Given the description of an element on the screen output the (x, y) to click on. 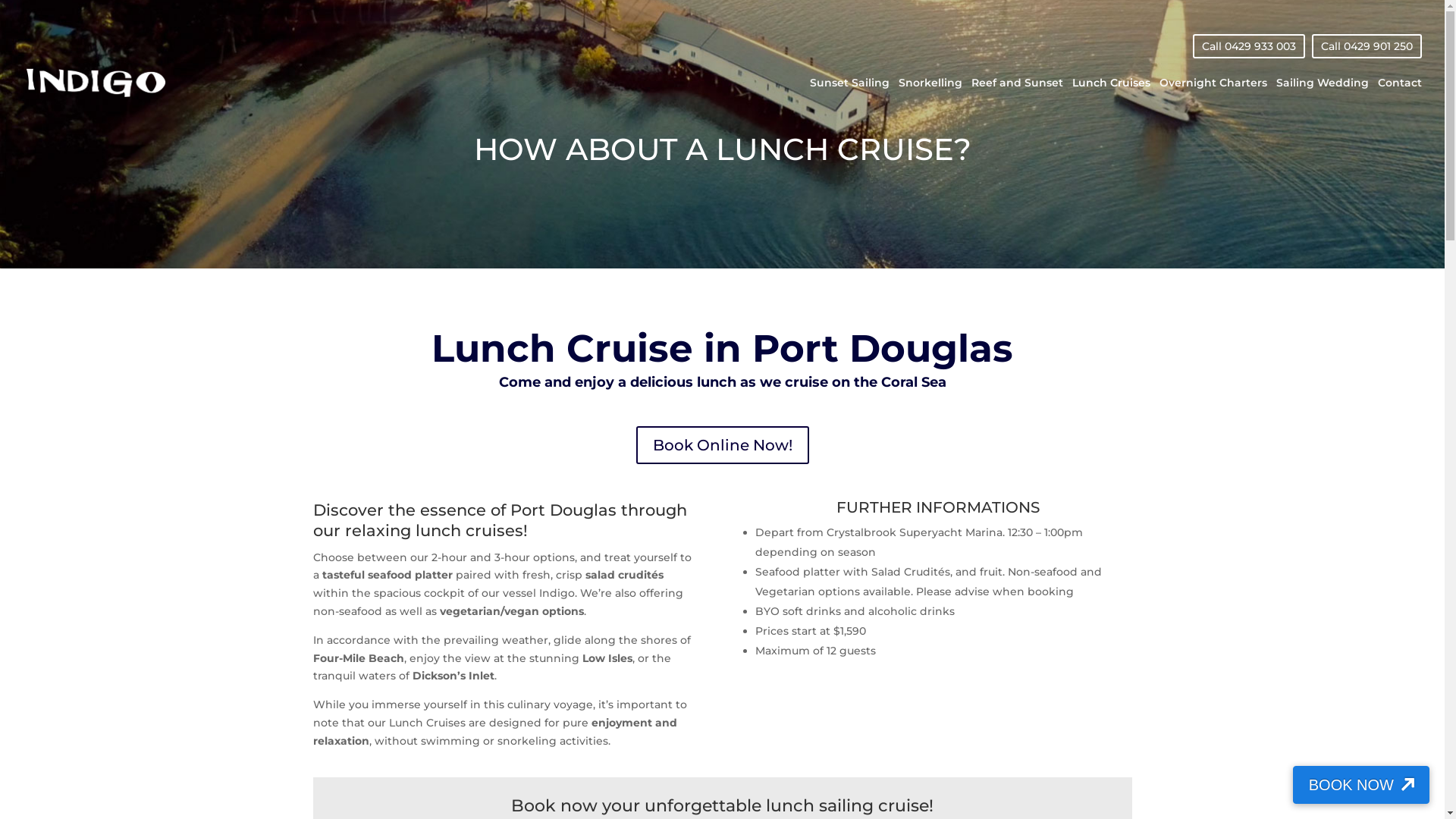
Book Online Now! Element type: text (721, 445)
Sunset Sailing Element type: text (849, 98)
Contact Element type: text (1399, 98)
Overnight Charters Element type: text (1213, 98)
Reef and Sunset Element type: text (1017, 98)
Lunch Cruises Element type: text (1111, 98)
Sailing Wedding Element type: text (1322, 98)
Snorkelling Element type: text (930, 98)
Call 0429 901 250 Element type: text (1366, 46)
Call 0429 933 003 Element type: text (1248, 46)
BOOK NOW Element type: text (1360, 784)
